Given the description of an element on the screen output the (x, y) to click on. 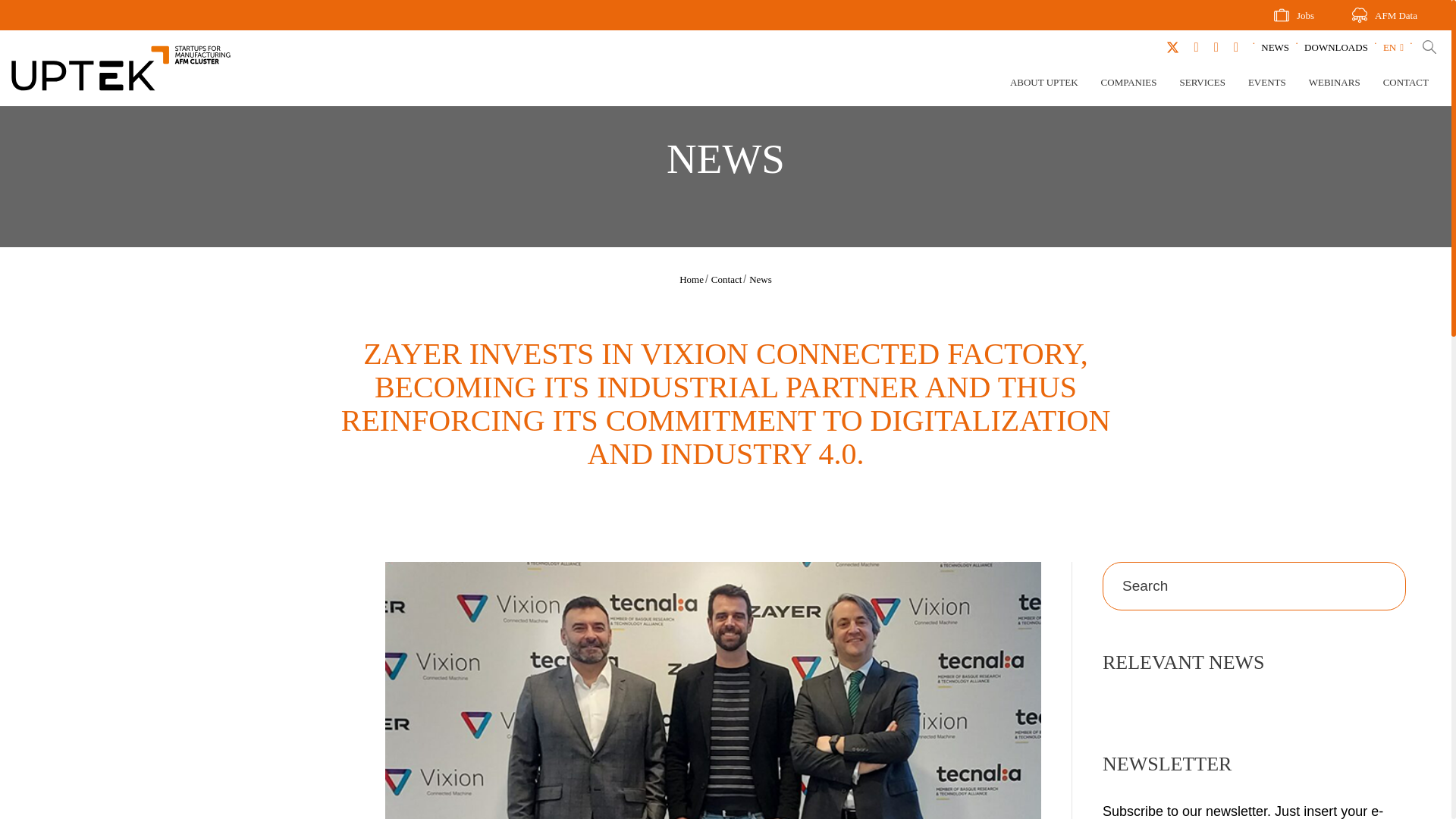
DOWNLOADS (1336, 46)
ABOUT UPTEK (1044, 84)
News (760, 278)
WEBINARS (1333, 84)
Home (691, 278)
EN (1393, 47)
Contact (726, 278)
COMPANIES (1128, 84)
EVENTS (1266, 84)
CONTACT (1405, 84)
SERVICES (1202, 84)
